Given the description of an element on the screen output the (x, y) to click on. 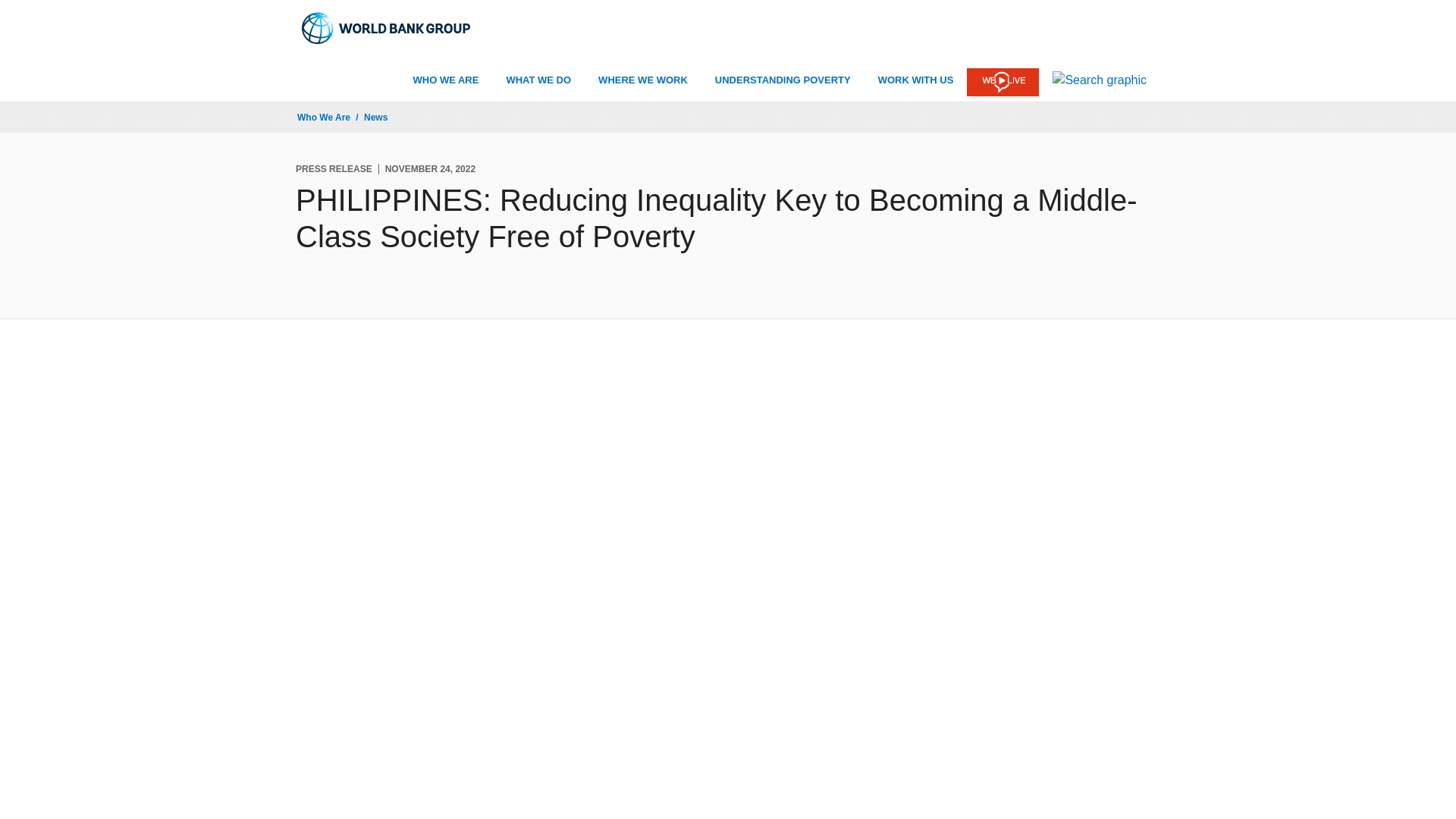
Global Search (1099, 80)
WHAT WE DO (537, 81)
WHO WE ARE (446, 81)
The World Bank Group logo (386, 28)
